Given the description of an element on the screen output the (x, y) to click on. 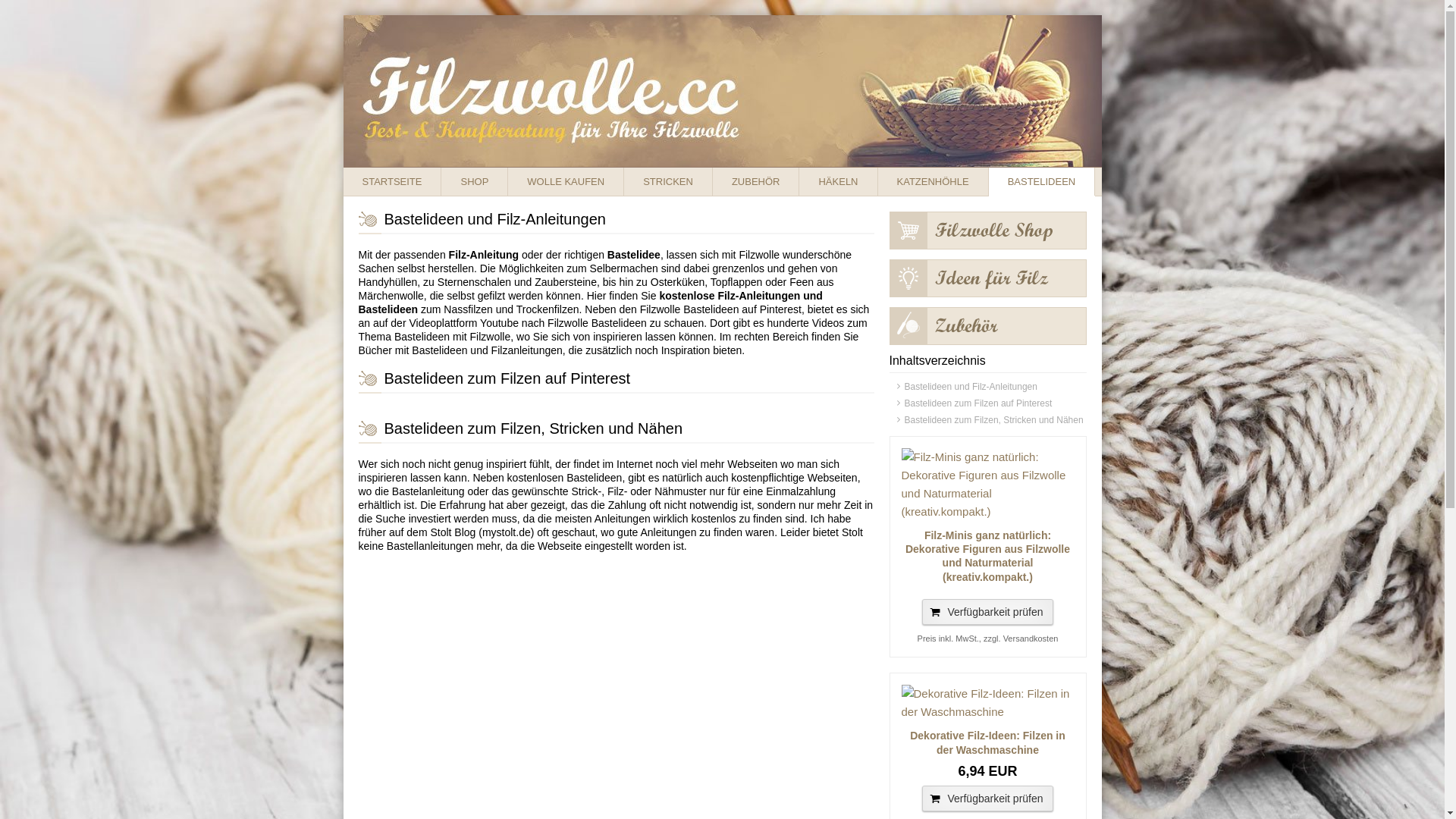
Bastelideen Element type: hover (986, 281)
Bastelideen und Filz-Anleitungen Element type: text (986, 386)
STARTSEITE Element type: text (391, 181)
STRICKEN Element type: text (668, 181)
Filzwolle - Vergleich, Test und Kauf Element type: text (721, 90)
Shop Element type: hover (986, 234)
BASTELIDEEN Element type: text (1041, 181)
Bastelideen zum Filzen auf Pinterest Element type: text (986, 403)
Dekorative Filz-Ideen: Filzen in der Waschmaschine Element type: hover (986, 702)
Dekorative Filz-Ideen: Filzen in der Waschmaschine Element type: text (986, 742)
WOLLE KAUFEN Element type: text (566, 181)
SHOP Element type: text (474, 181)
